Given the description of an element on the screen output the (x, y) to click on. 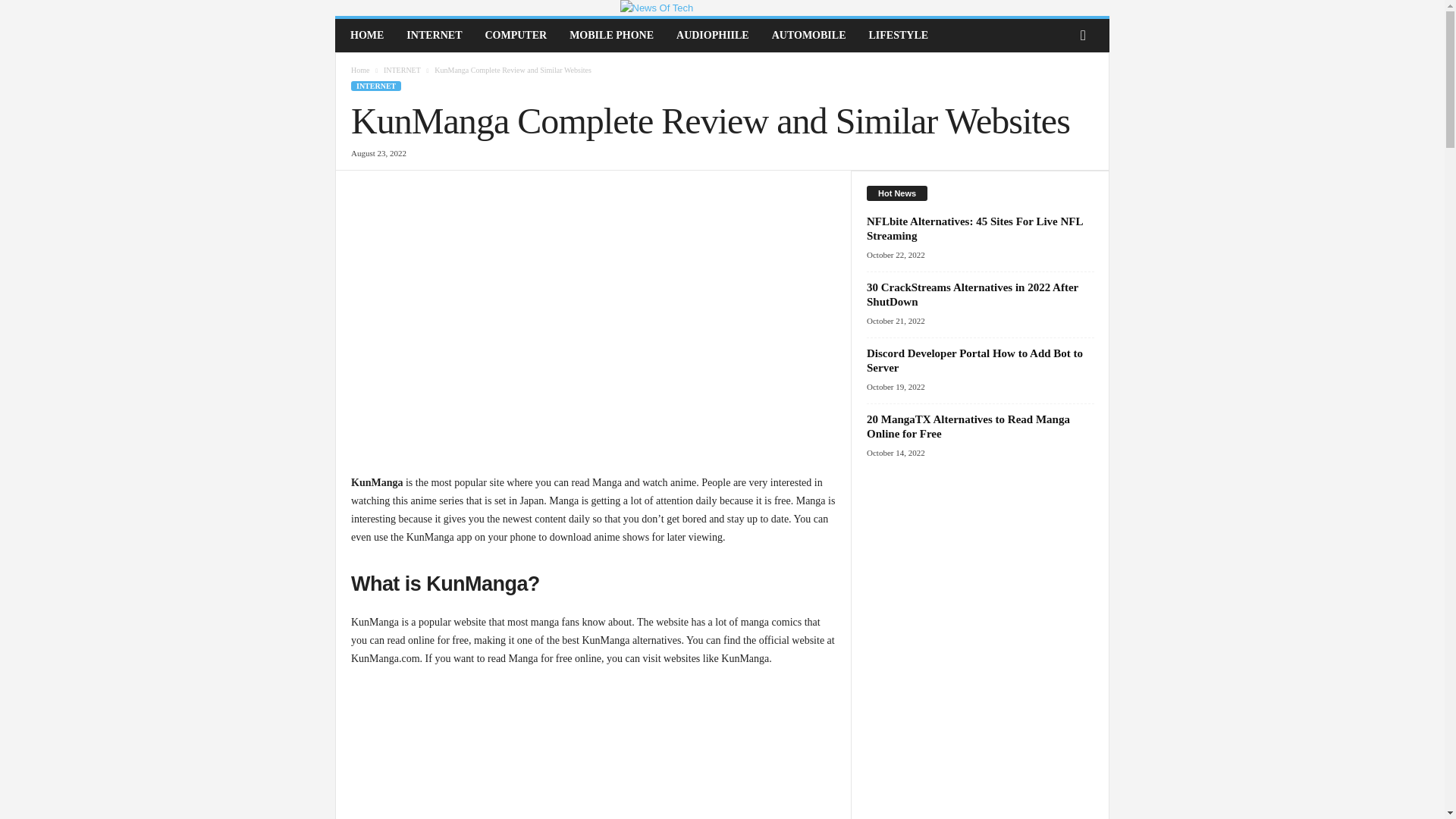
30 CrackStreams Alternatives in 2022 After ShutDown (972, 294)
HOME (366, 35)
AUDIOPHIILE (712, 35)
LIFESTYLE (898, 35)
20 MangaTX Alternatives to Read Manga Online for Free (968, 426)
Home (359, 70)
News Of Tech (721, 7)
Discord Developer Portal How to Add Bot to Server (974, 360)
COMPUTER (515, 35)
MOBILE PHONE (611, 35)
AUTOMOBILE (808, 35)
INTERNET (375, 85)
INTERNET (402, 70)
INTERNET (433, 35)
NFLbite Alternatives: 45 Sites For Live NFL Streaming (974, 228)
